Given the description of an element on the screen output the (x, y) to click on. 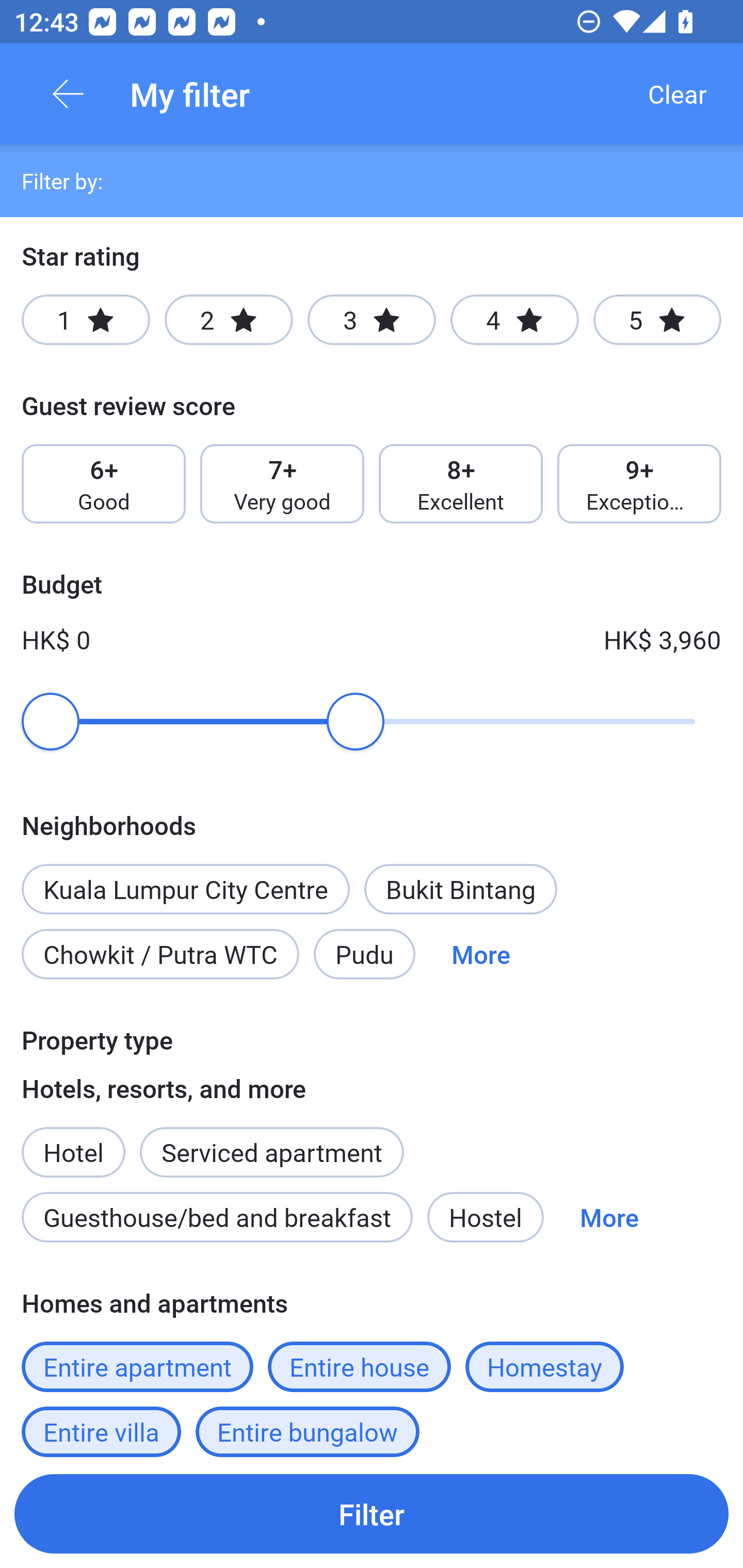
Clear (676, 93)
1 (85, 319)
2 (228, 319)
3 (371, 319)
4 (514, 319)
5 (657, 319)
6+ Good (103, 483)
7+ Very good (281, 483)
8+ Excellent (460, 483)
9+ Exceptional (639, 483)
Kuala Lumpur City Centre (185, 888)
Bukit Bintang (460, 888)
Chowkit / Putra WTC (160, 954)
Pudu (364, 954)
More (480, 954)
Hotel (73, 1141)
Serviced apartment (271, 1141)
Guesthouse/bed and breakfast (217, 1217)
Hostel (485, 1217)
More (608, 1217)
Filter (371, 1513)
